Given the description of an element on the screen output the (x, y) to click on. 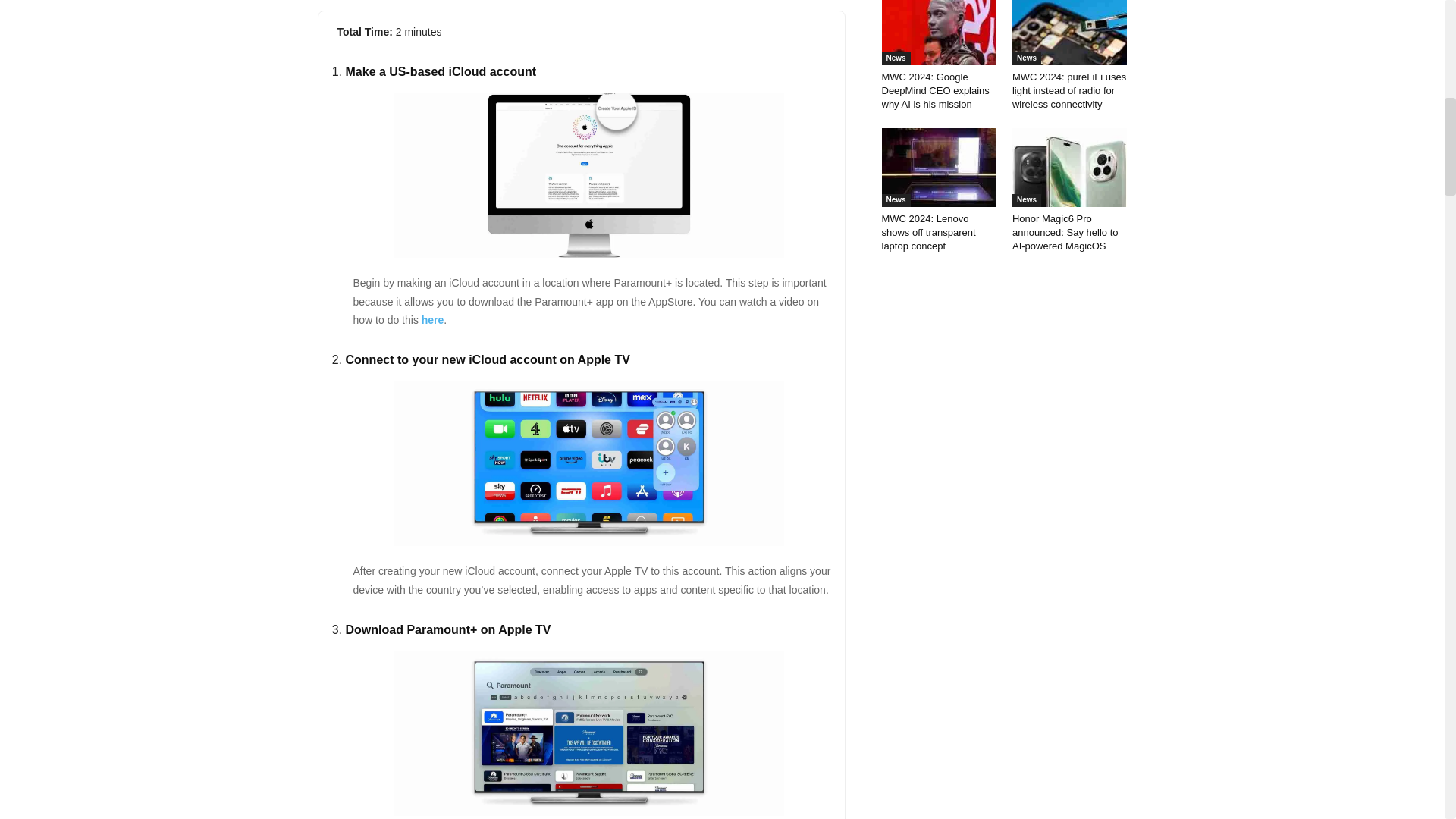
here (433, 319)
